Given the description of an element on the screen output the (x, y) to click on. 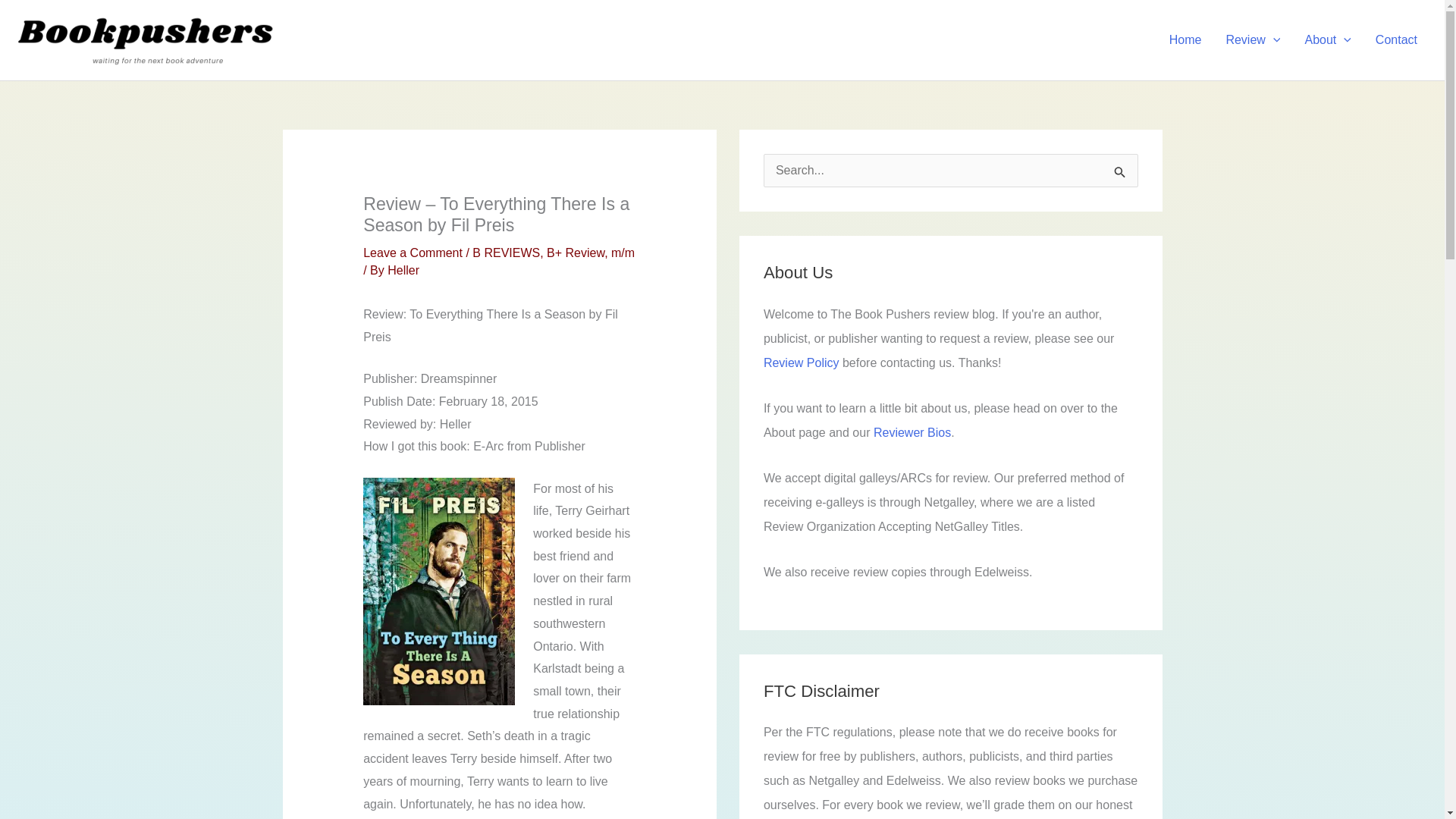
About (1327, 39)
View all posts by Heller (403, 269)
Review (1252, 39)
Home (1185, 39)
